Given the description of an element on the screen output the (x, y) to click on. 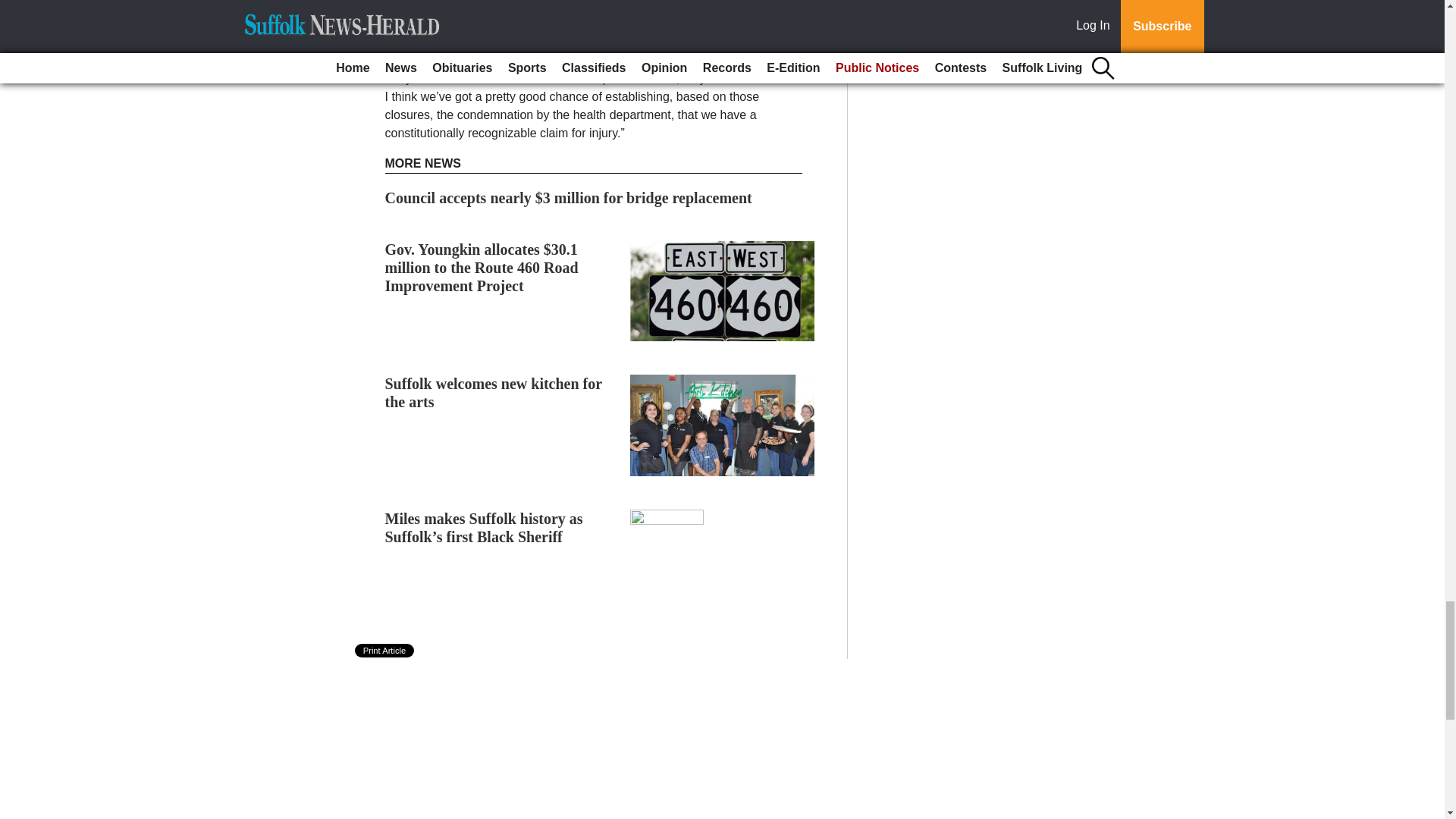
Suffolk welcomes new kitchen for the arts (493, 392)
Print Article (384, 650)
Suffolk welcomes new kitchen for the arts (493, 392)
